Given the description of an element on the screen output the (x, y) to click on. 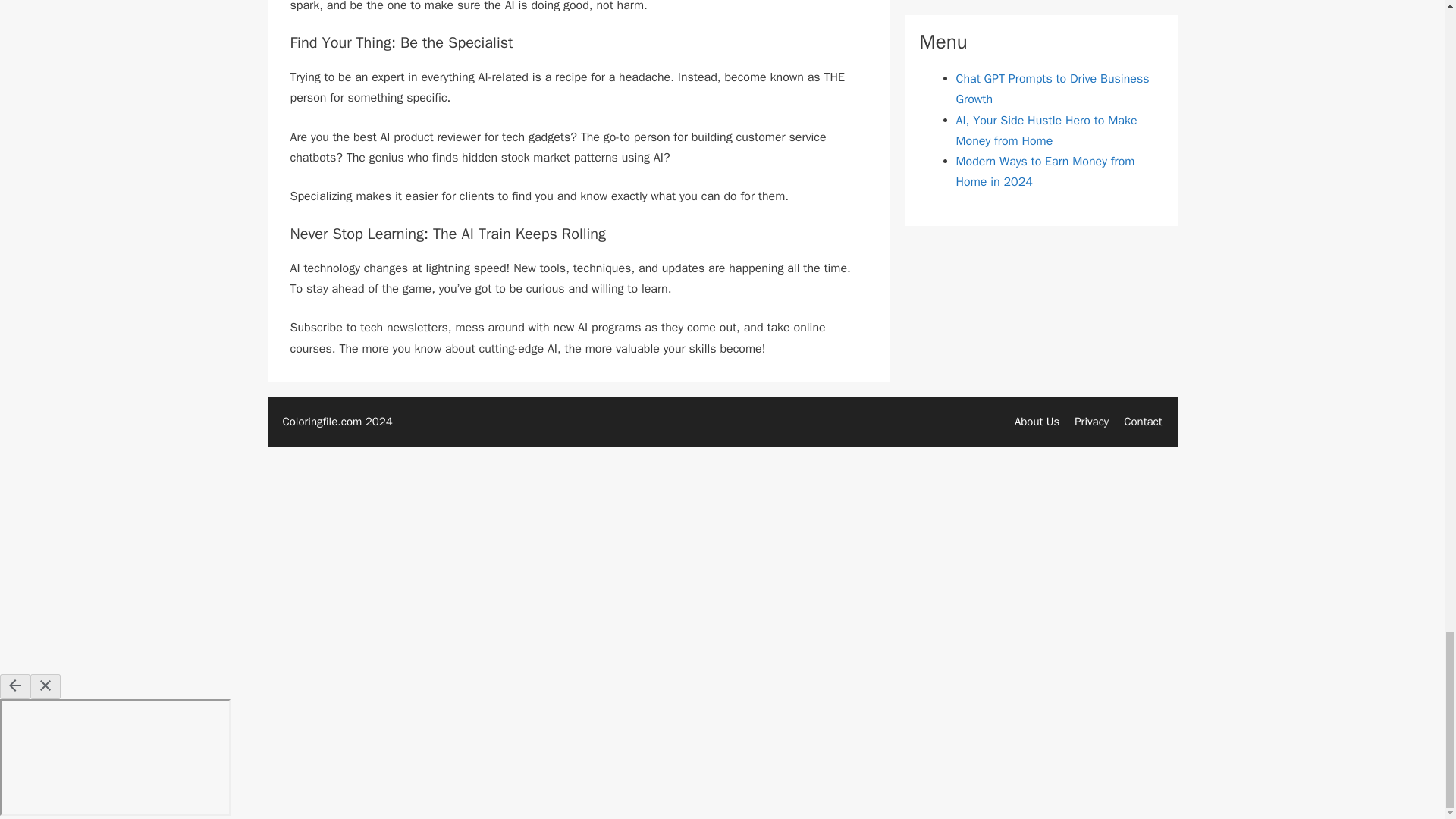
Privacy (1091, 421)
Contact (1142, 421)
About Us (1036, 421)
